Given the description of an element on the screen output the (x, y) to click on. 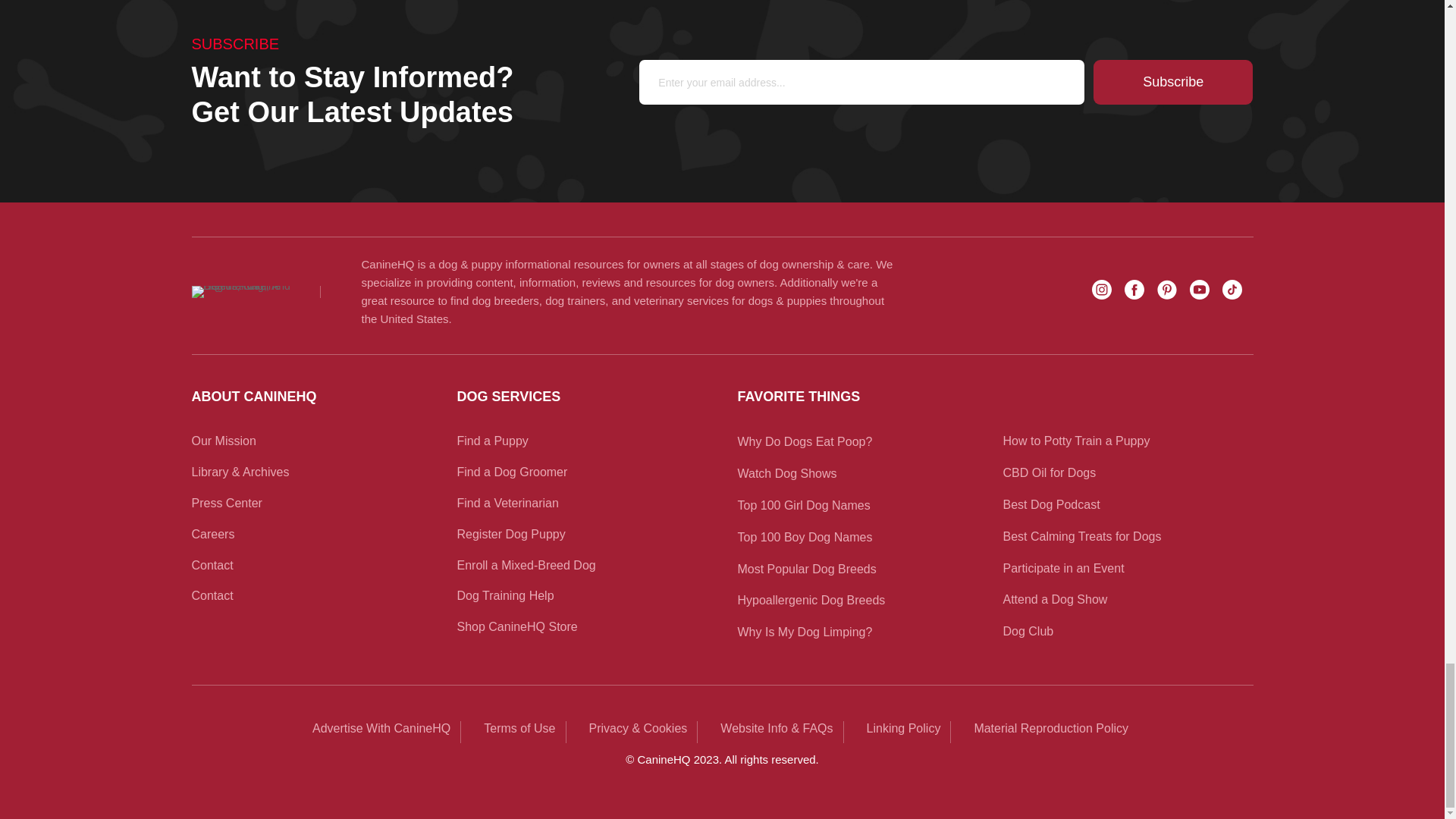
Canine HQ (242, 291)
Follow on Facebook (1133, 289)
Follow on Instagram (1102, 289)
